Given the description of an element on the screen output the (x, y) to click on. 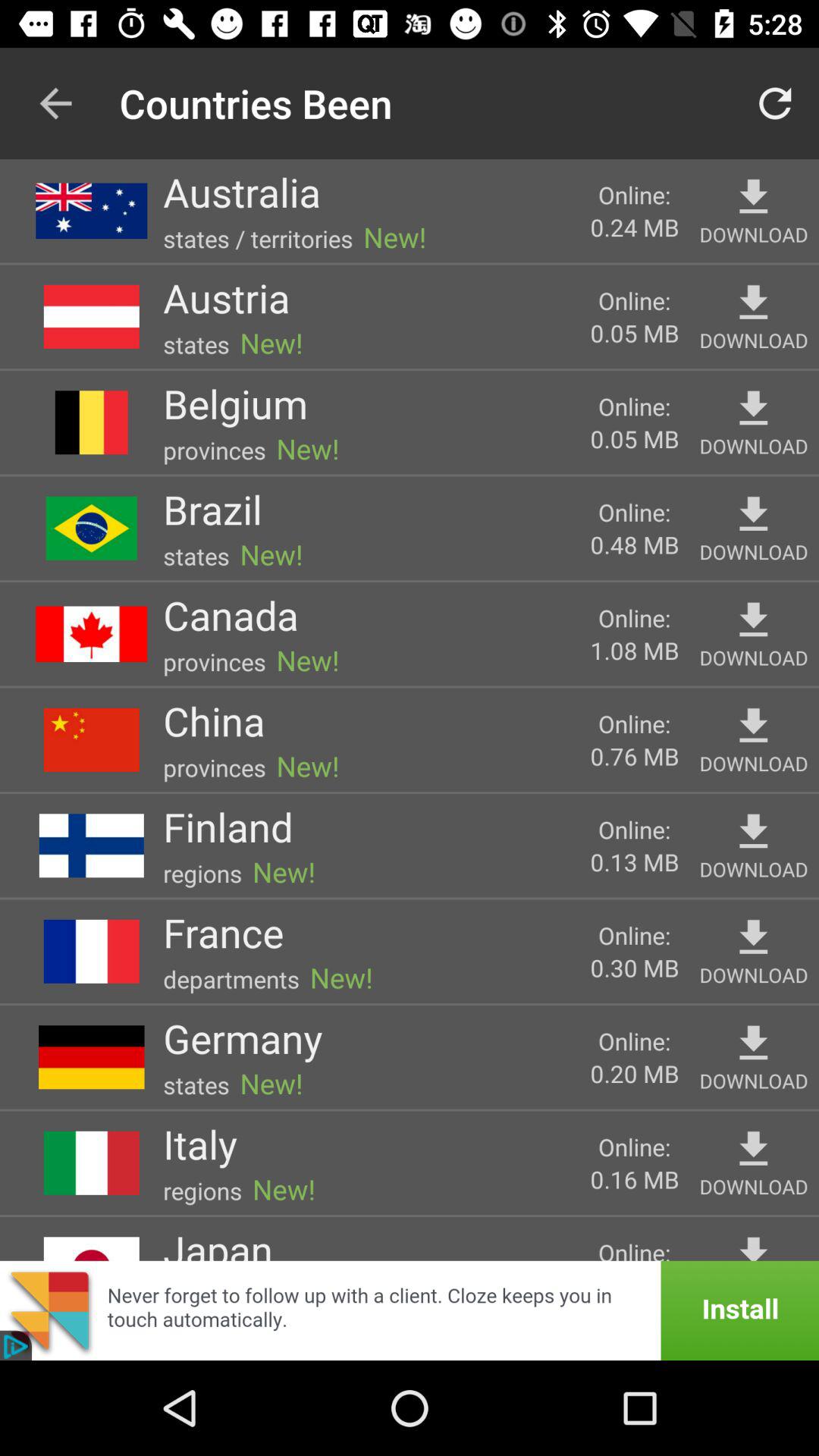
download this item (753, 197)
